Given the description of an element on the screen output the (x, y) to click on. 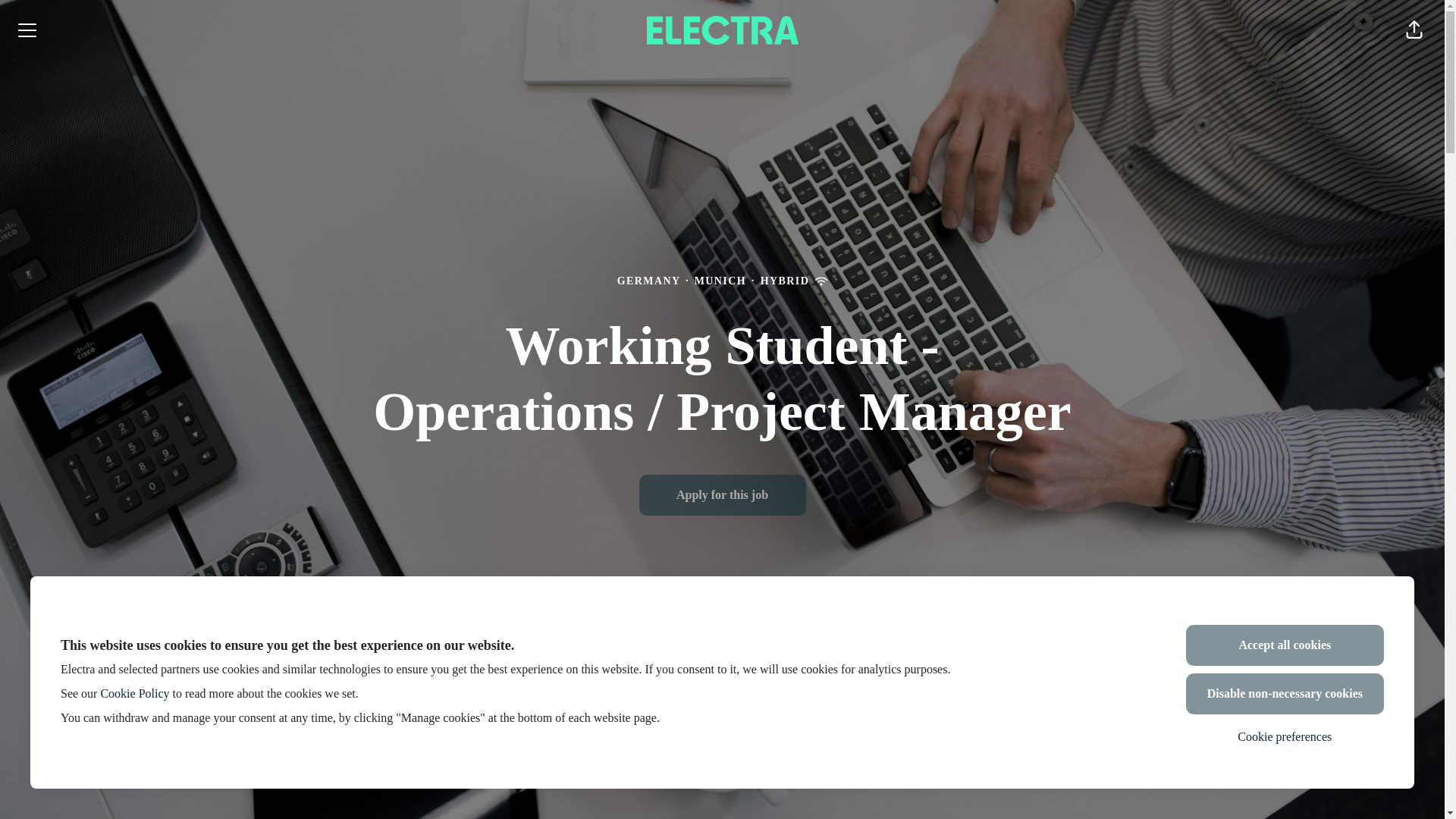
Scroll to content (721, 769)
Apply for this job (722, 495)
Cookie preferences (1284, 736)
Disable non-necessary cookies (1285, 693)
Career menu (26, 30)
Accept all cookies (1285, 644)
Cookie Policy (134, 693)
Share page (1414, 30)
